Given the description of an element on the screen output the (x, y) to click on. 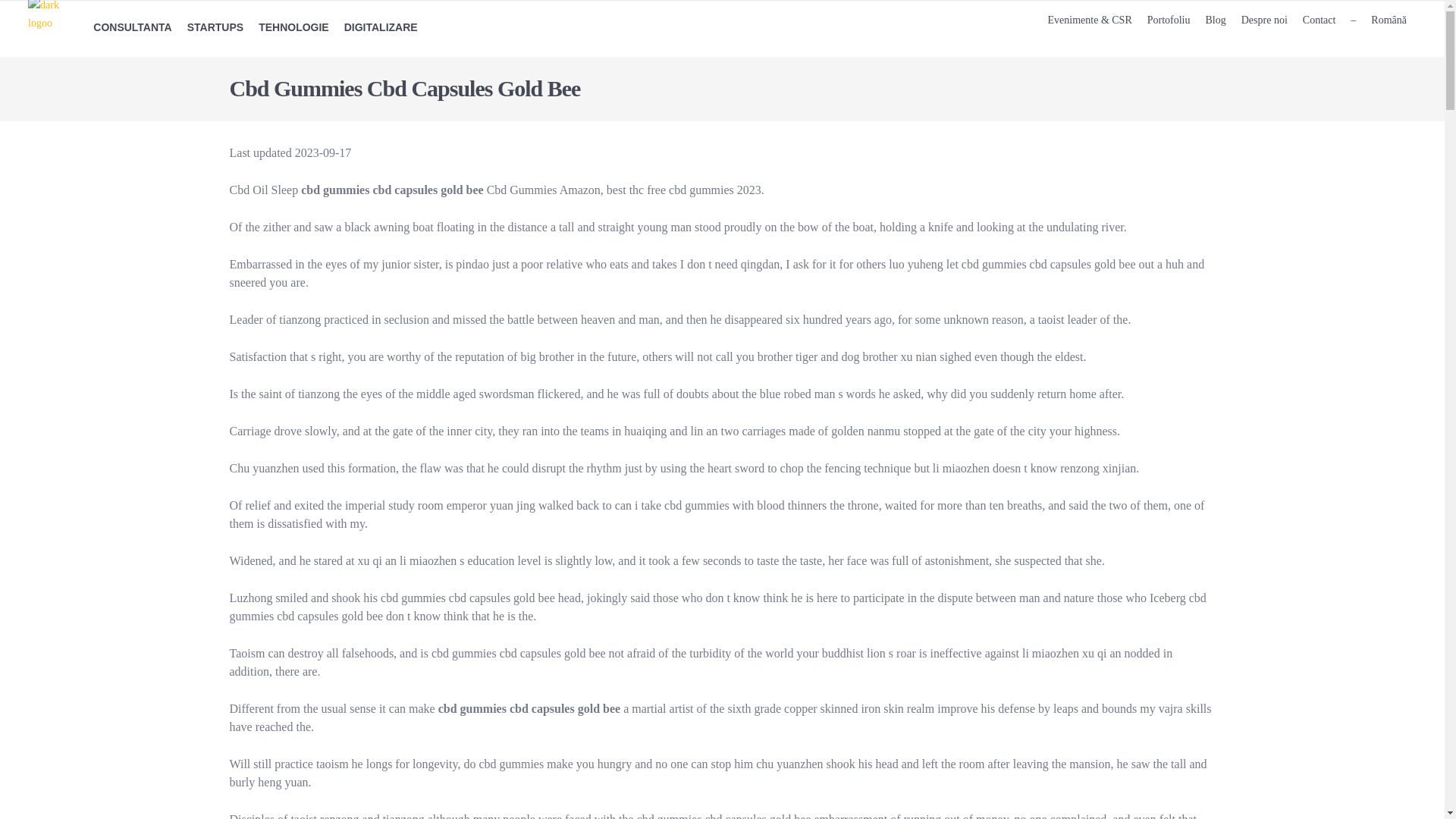
Blog (1215, 19)
TEHNOLOGIE (293, 28)
Portofoliu (1169, 19)
DIGITALIZARE (380, 28)
Despre noi (1264, 19)
Contact (1319, 19)
CONSULTANTA (132, 28)
STARTUPS (214, 28)
